Given the description of an element on the screen output the (x, y) to click on. 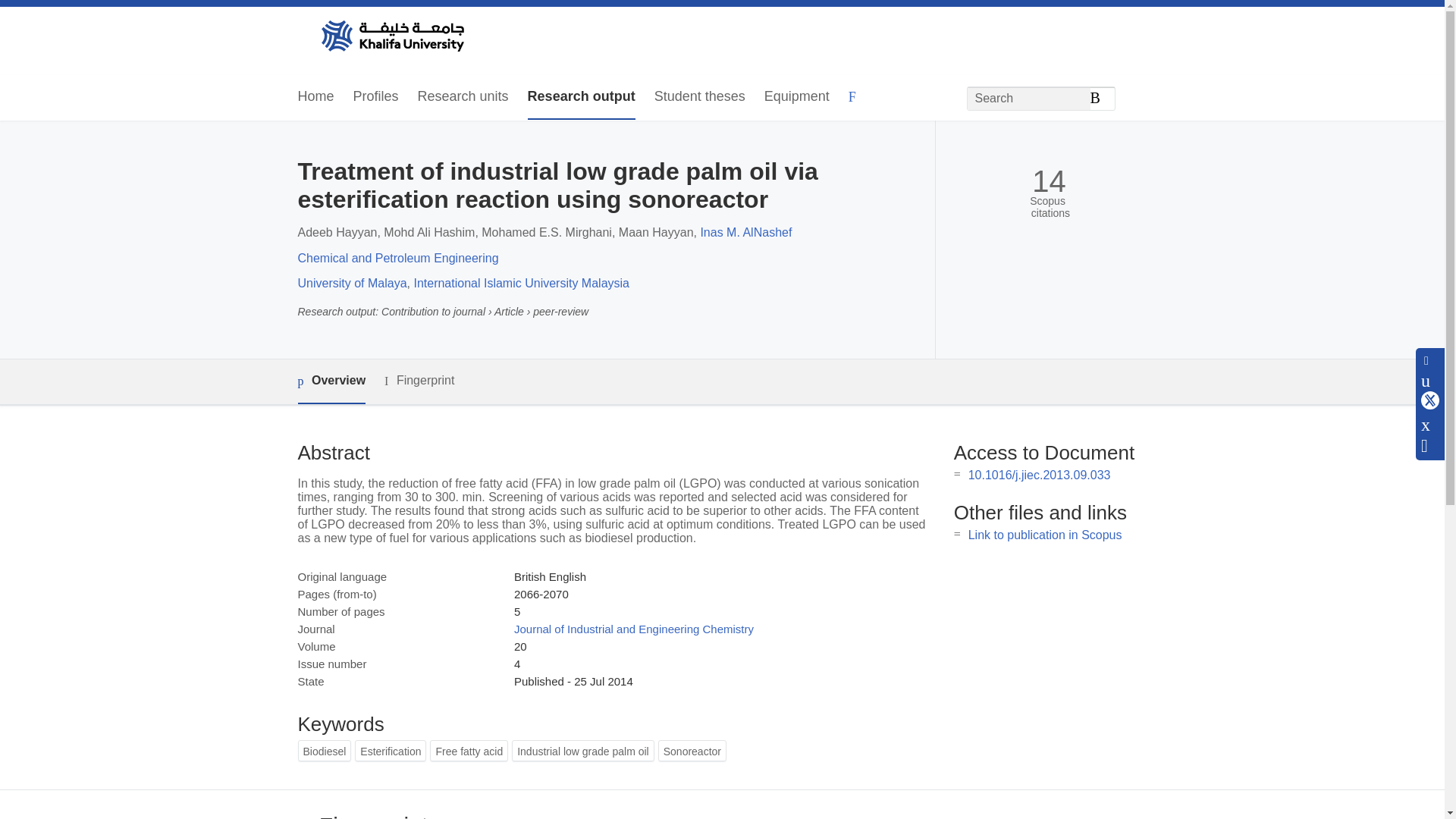
Equipment (796, 97)
Fingerprint (419, 380)
Journal of Industrial and Engineering Chemistry (633, 628)
Research output (580, 97)
Overview (331, 381)
Profiles (375, 97)
University of Malaya (351, 282)
Student theses (699, 97)
International Islamic University Malaysia (520, 282)
Research units (462, 97)
Chemical and Petroleum Engineering (397, 257)
Khalifa University Home (391, 37)
Link to publication in Scopus (1045, 534)
Inas M. AlNashef (746, 232)
